Given the description of an element on the screen output the (x, y) to click on. 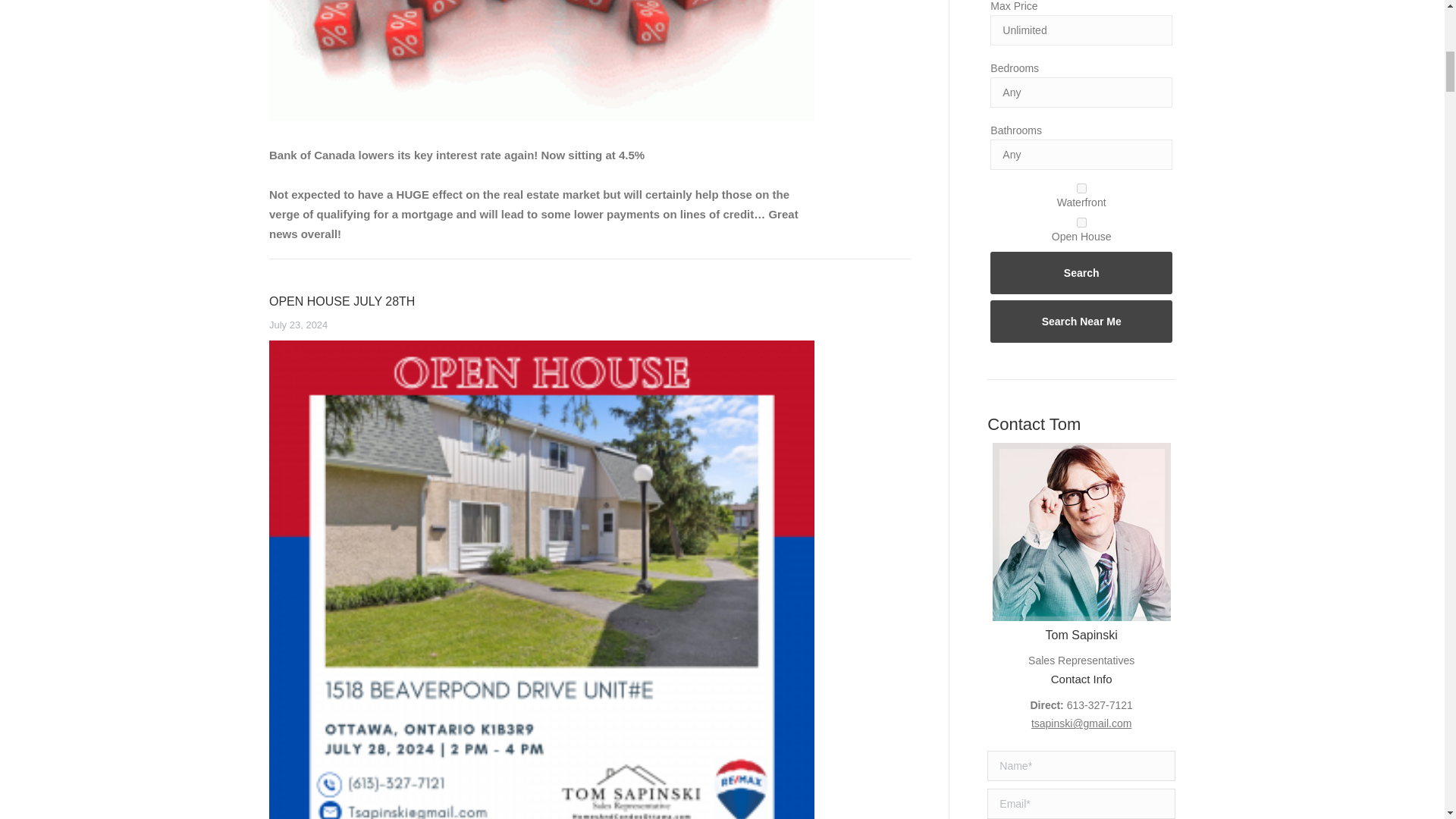
on (1081, 188)
6:53 pm (298, 324)
on (1081, 222)
Search Near Me (1081, 321)
Search (1081, 272)
OPEN HOUSE JULY 28TH (341, 301)
